Given the description of an element on the screen output the (x, y) to click on. 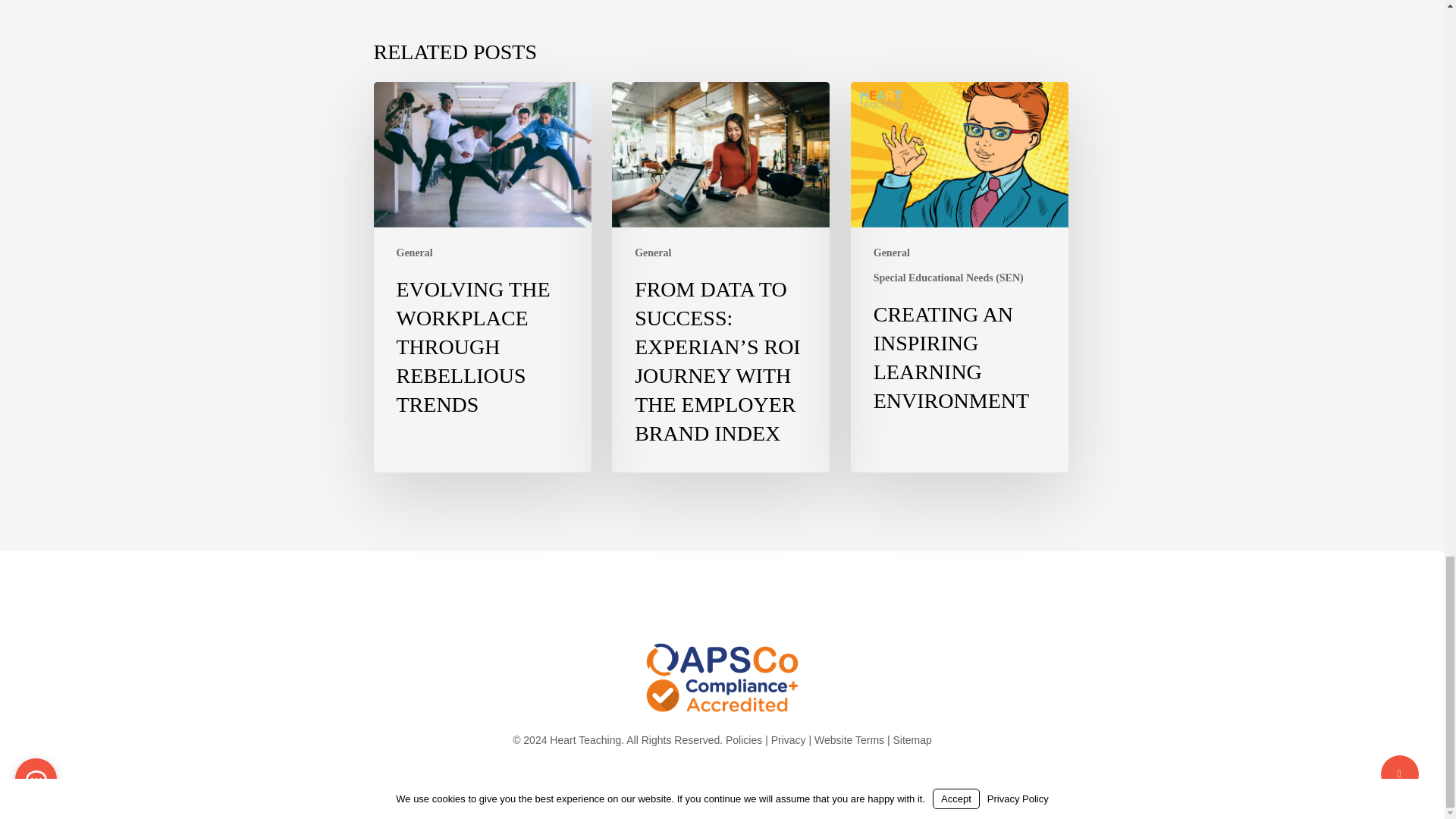
General (414, 252)
General (652, 252)
General (891, 252)
